Given the description of an element on the screen output the (x, y) to click on. 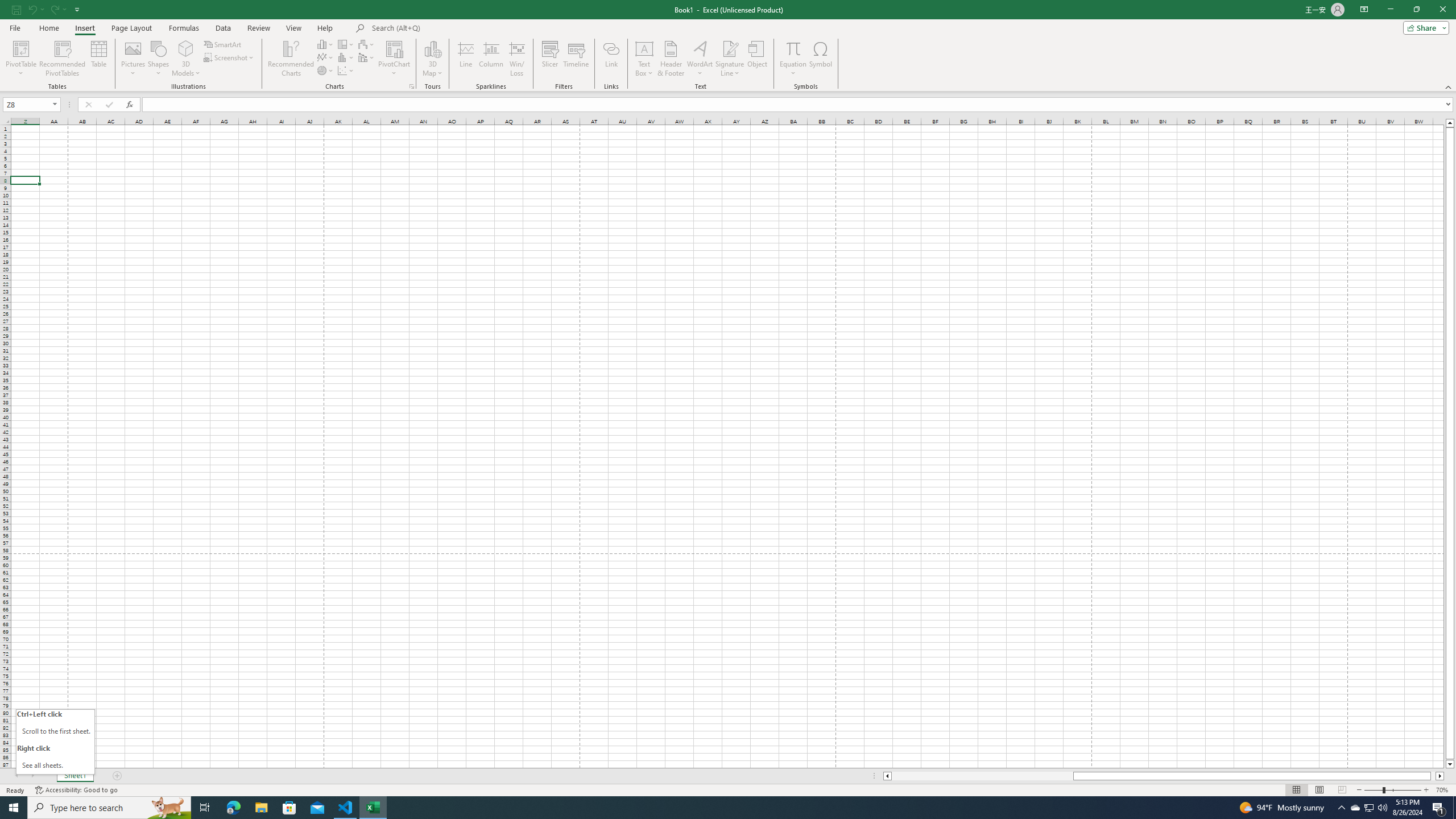
3D Map (432, 58)
Insert Combo Chart (366, 56)
Insert Scatter (X, Y) or Bubble Chart (346, 69)
Insert Hierarchy Chart (346, 44)
Equation (793, 48)
PivotChart (394, 48)
PivotTable (20, 58)
Text Box (643, 58)
Shapes (158, 58)
Insert Statistic Chart (346, 56)
